Given the description of an element on the screen output the (x, y) to click on. 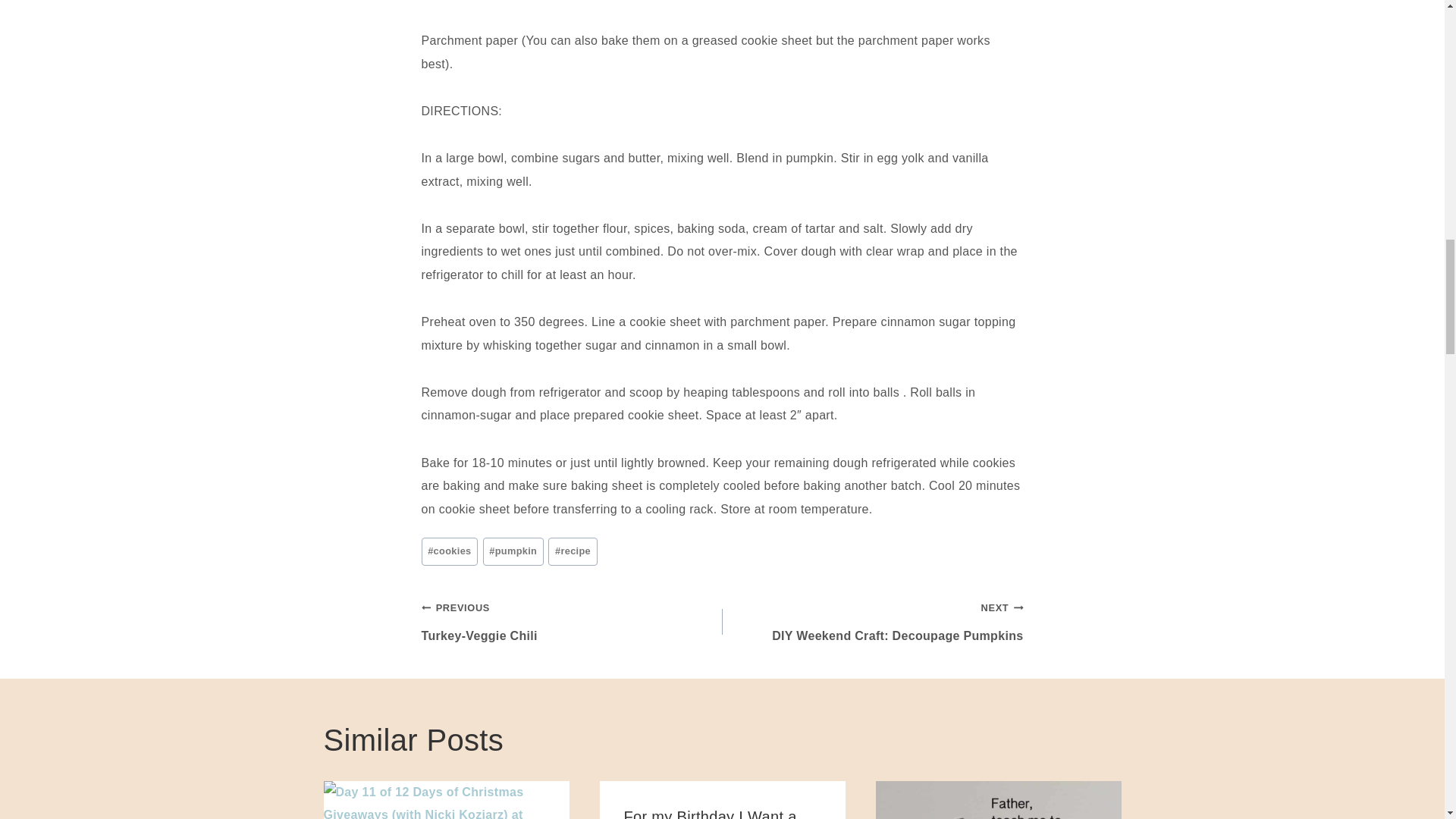
recipe (572, 551)
pumpkin (513, 551)
cookies (450, 551)
